Given the description of an element on the screen output the (x, y) to click on. 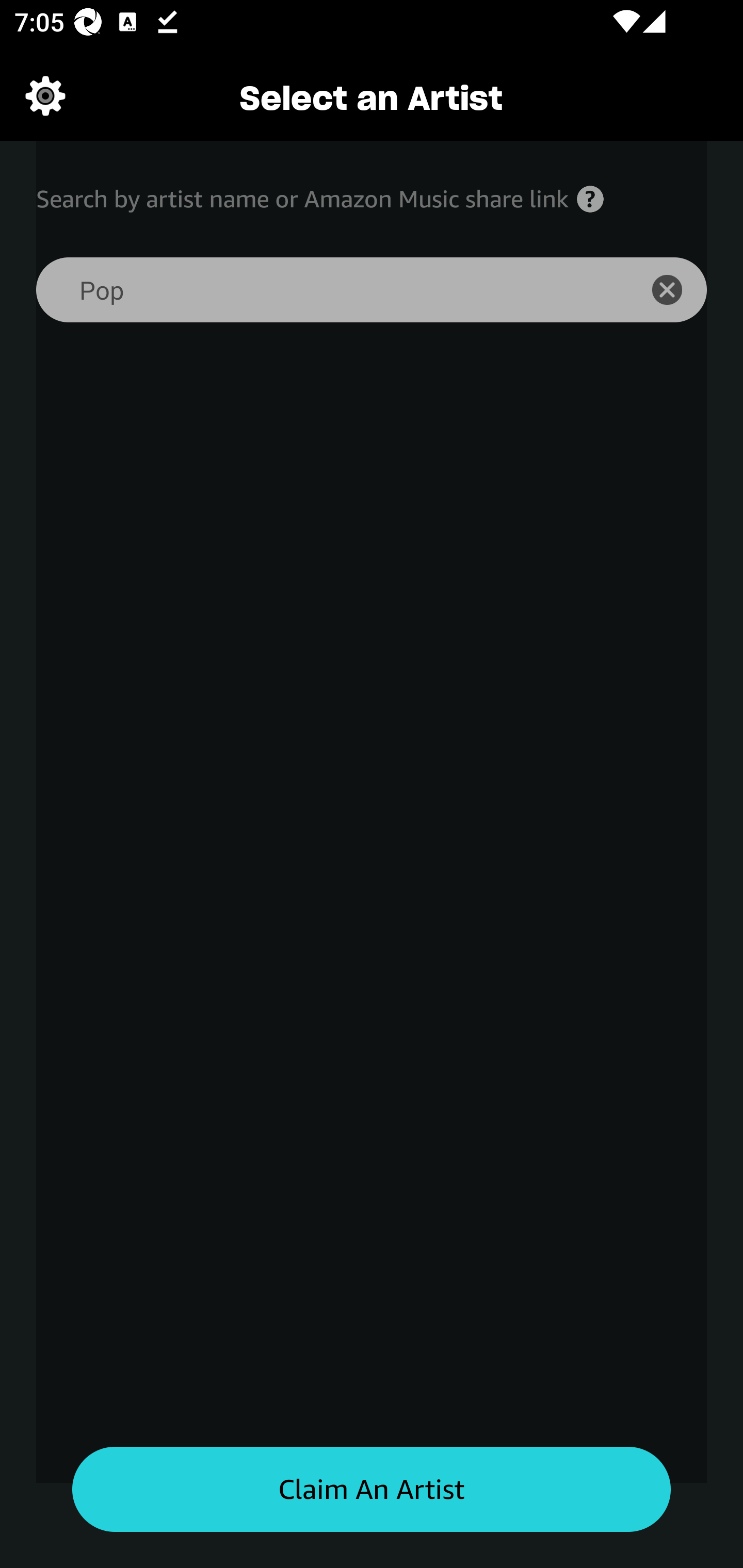
Help  icon (589, 199)
Pop Search for an artist search bar (324, 290)
 icon (677, 290)
Claim an artist button Claim An Artist (371, 1489)
